Given the description of an element on the screen output the (x, y) to click on. 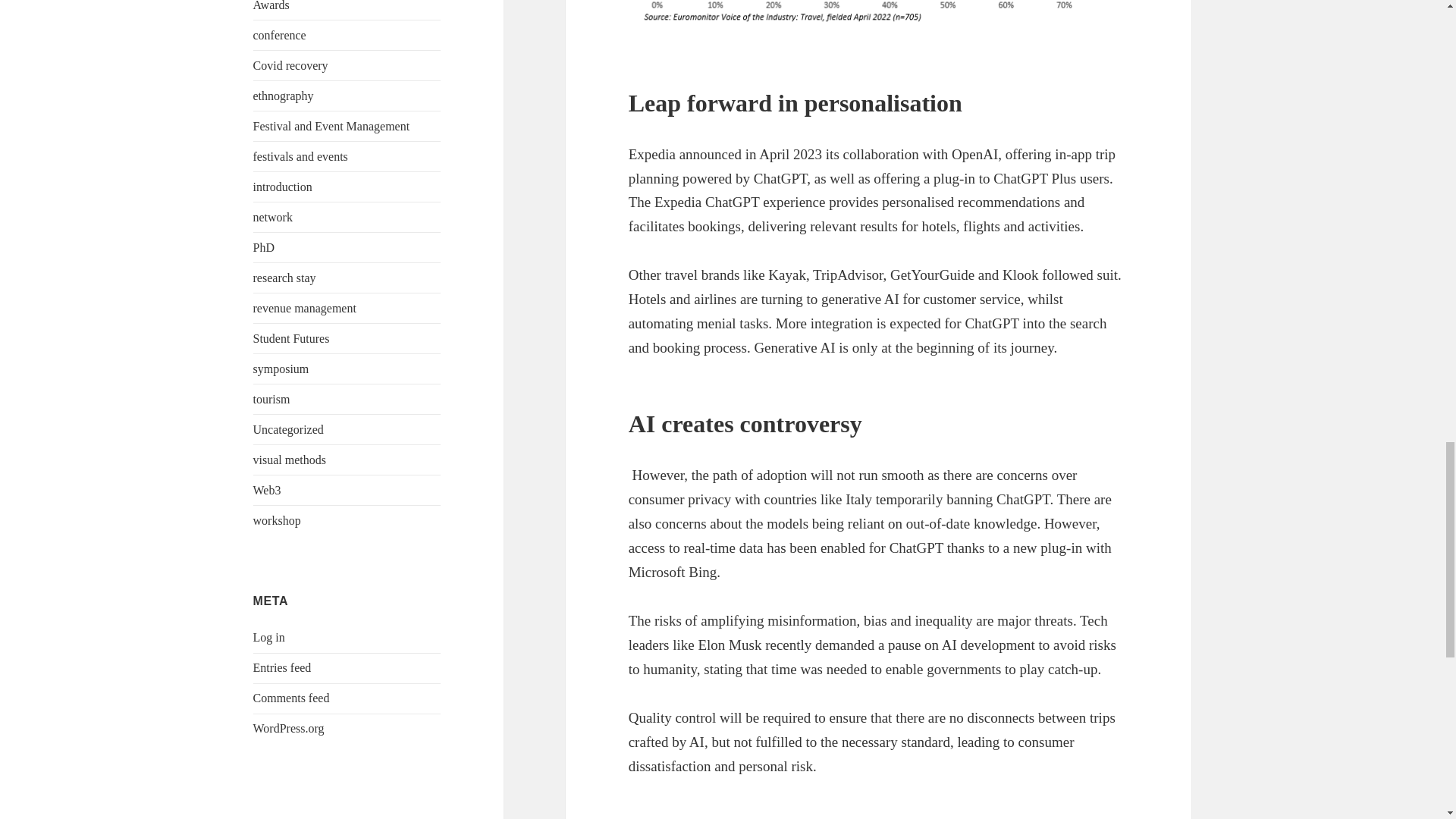
ethnography (283, 95)
Student Futures (291, 338)
revenue management (304, 308)
symposium (280, 368)
festivals and events (300, 155)
introduction (283, 186)
Festival and Event Management (331, 125)
PhD (264, 246)
conference (279, 34)
Covid recovery (291, 65)
Awards (271, 5)
research stay (284, 277)
tourism (271, 399)
network (272, 216)
